Given the description of an element on the screen output the (x, y) to click on. 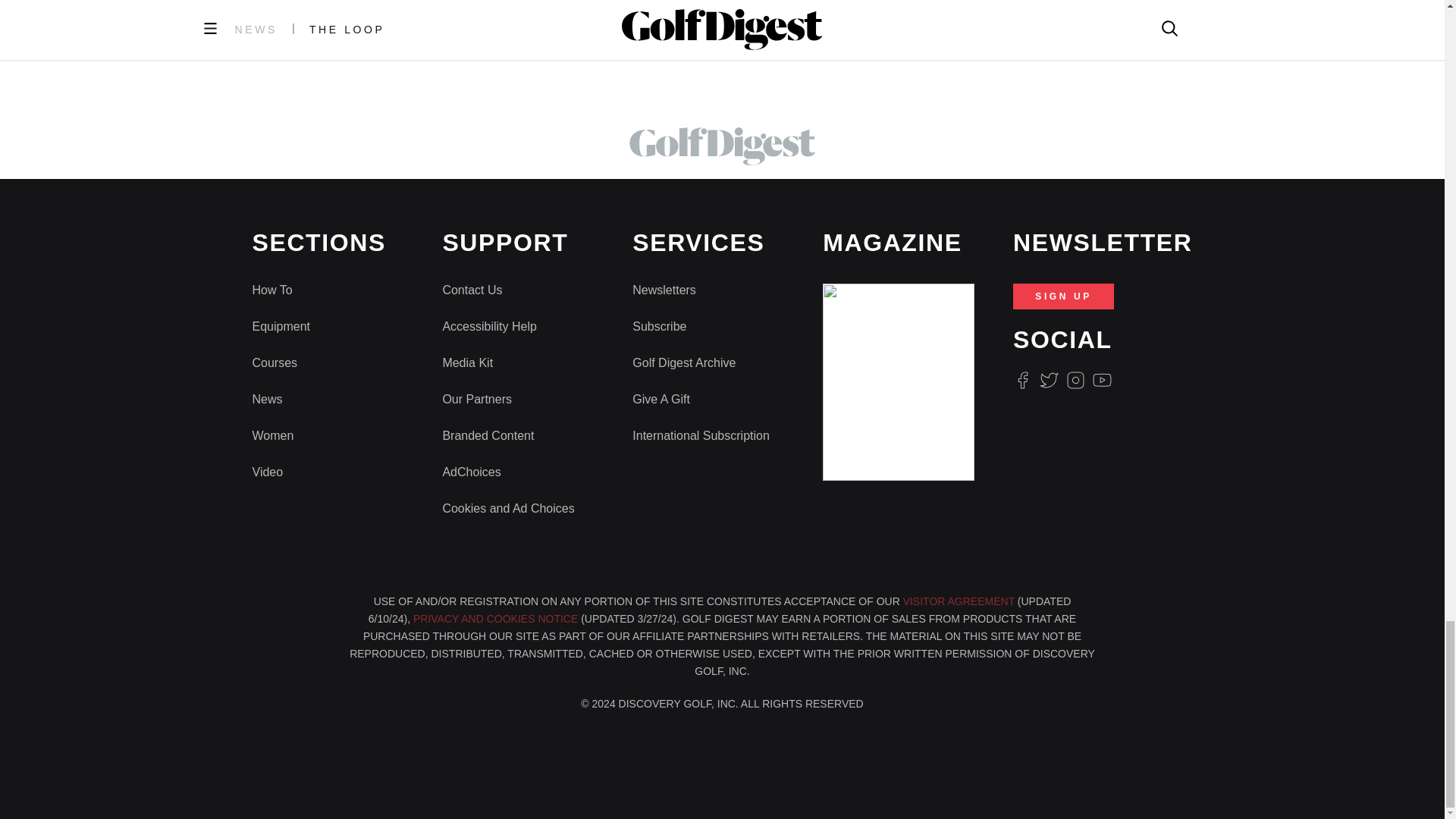
Youtube Icon (1102, 380)
Facebook Logo (1022, 380)
Twitter Logo (1048, 380)
Instagram Logo (1074, 380)
